Given the description of an element on the screen output the (x, y) to click on. 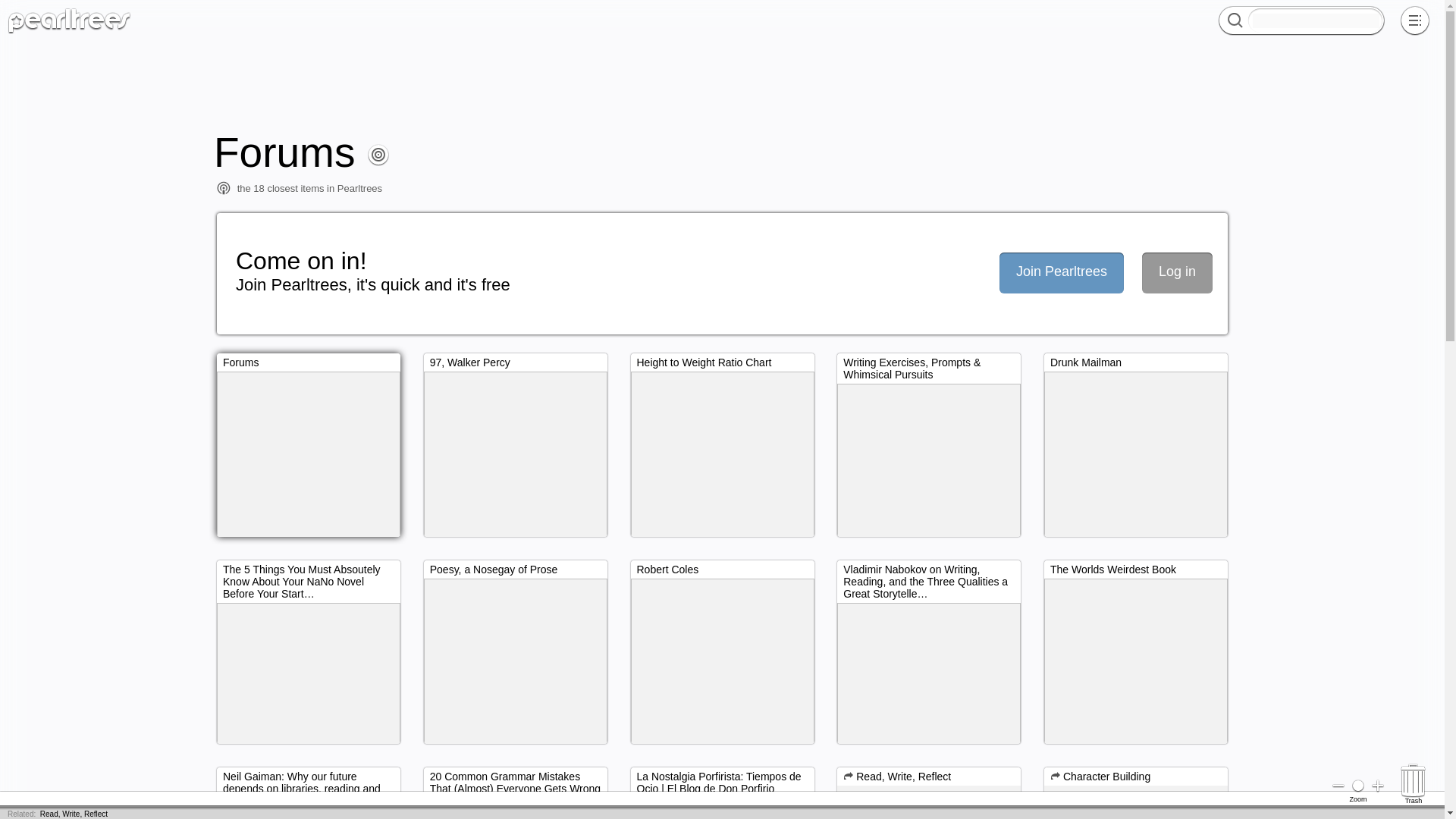
Read, Write, Reflect (73, 813)
